Given the description of an element on the screen output the (x, y) to click on. 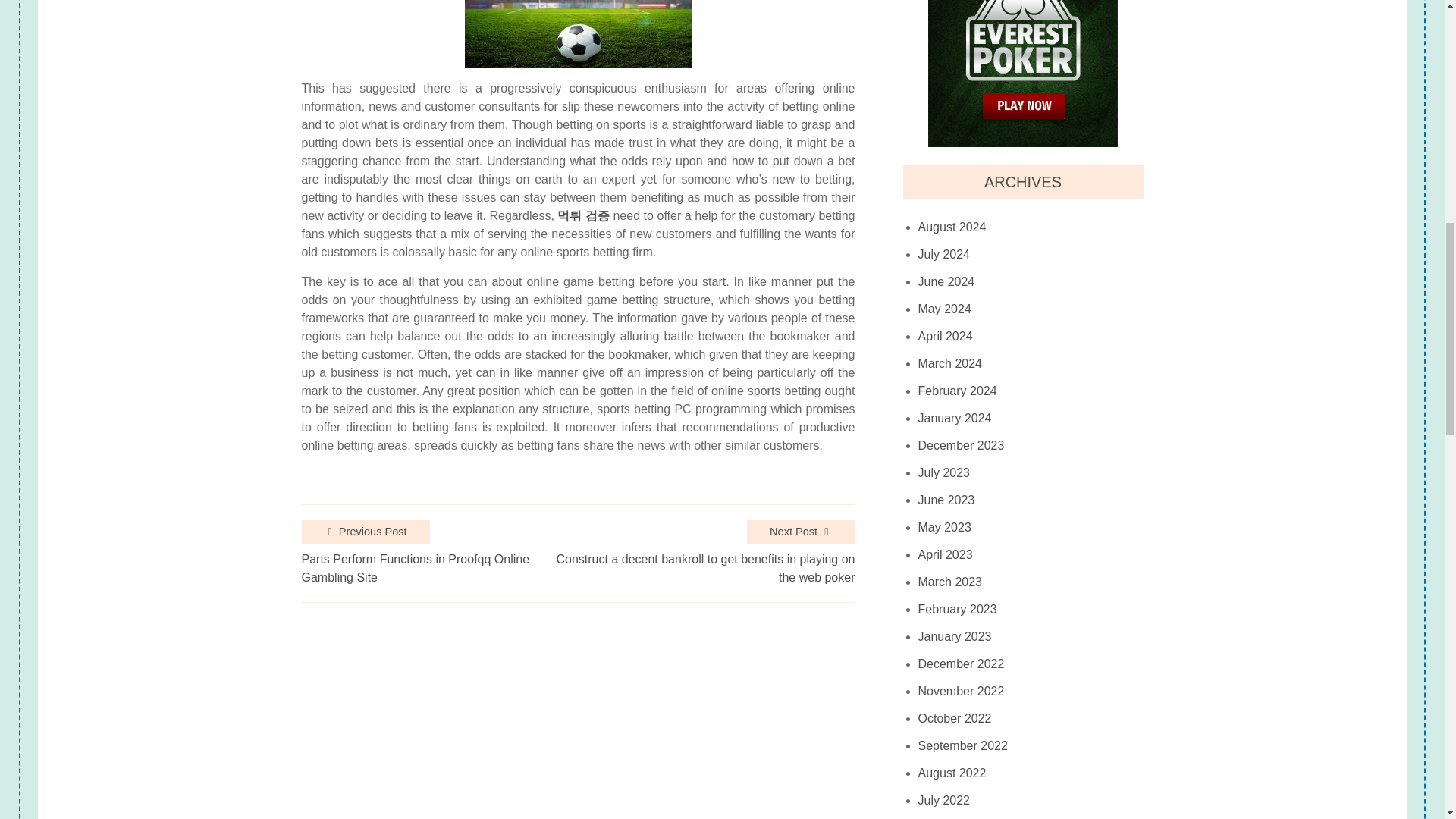
March 2024 (950, 363)
March 2023 (950, 582)
May 2024 (944, 308)
December 2022 (961, 664)
January 2024 (954, 418)
February 2023 (957, 609)
May 2023 (944, 527)
December 2023 (961, 445)
January 2023 (954, 636)
Next Post (800, 532)
Previous Post (365, 532)
February 2024 (957, 390)
June 2023 (946, 500)
August 2024 (952, 226)
